Given the description of an element on the screen output the (x, y) to click on. 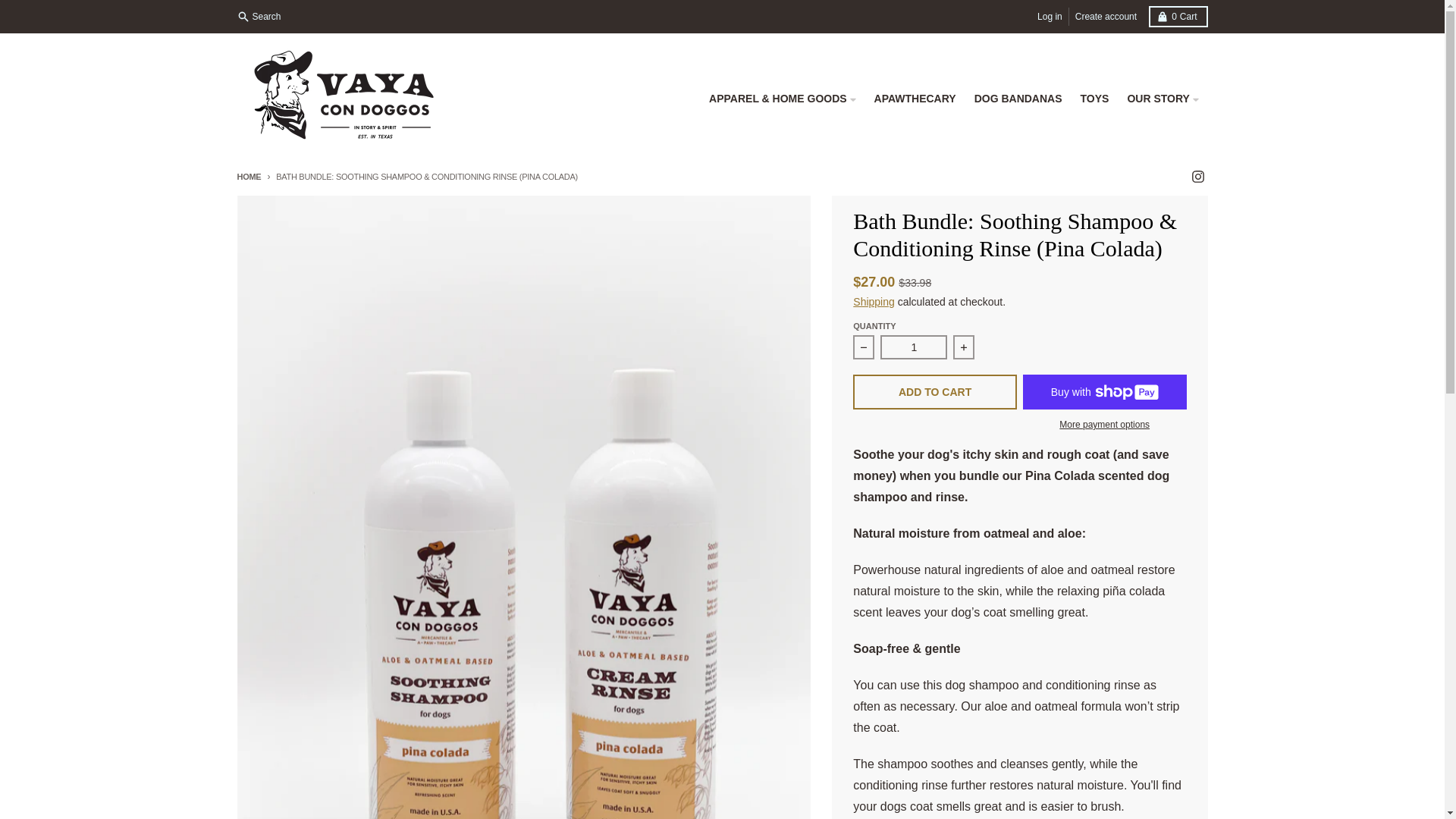
Create account (1105, 16)
DOG BANDANAS (1018, 98)
HOME (247, 175)
Log in (1049, 16)
APAWTHECARY (914, 98)
1 (913, 346)
Shipping (874, 301)
Instagram - Vaya Con Doggos (1177, 16)
Back to the homepage (1197, 176)
Search (247, 175)
TOYS (259, 16)
